Given the description of an element on the screen output the (x, y) to click on. 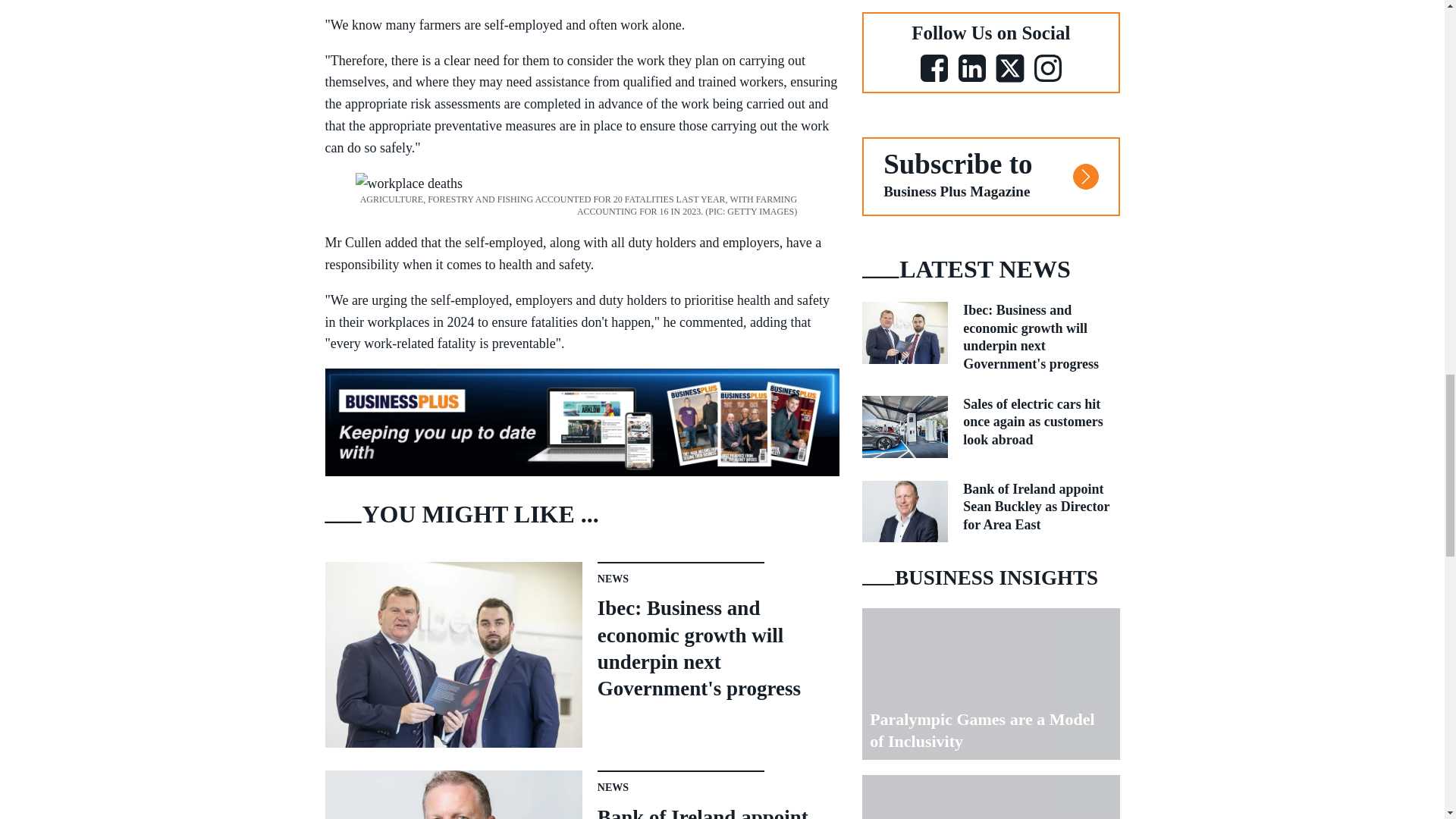
NEWS (612, 787)
NEWS (612, 579)
